Given the description of an element on the screen output the (x, y) to click on. 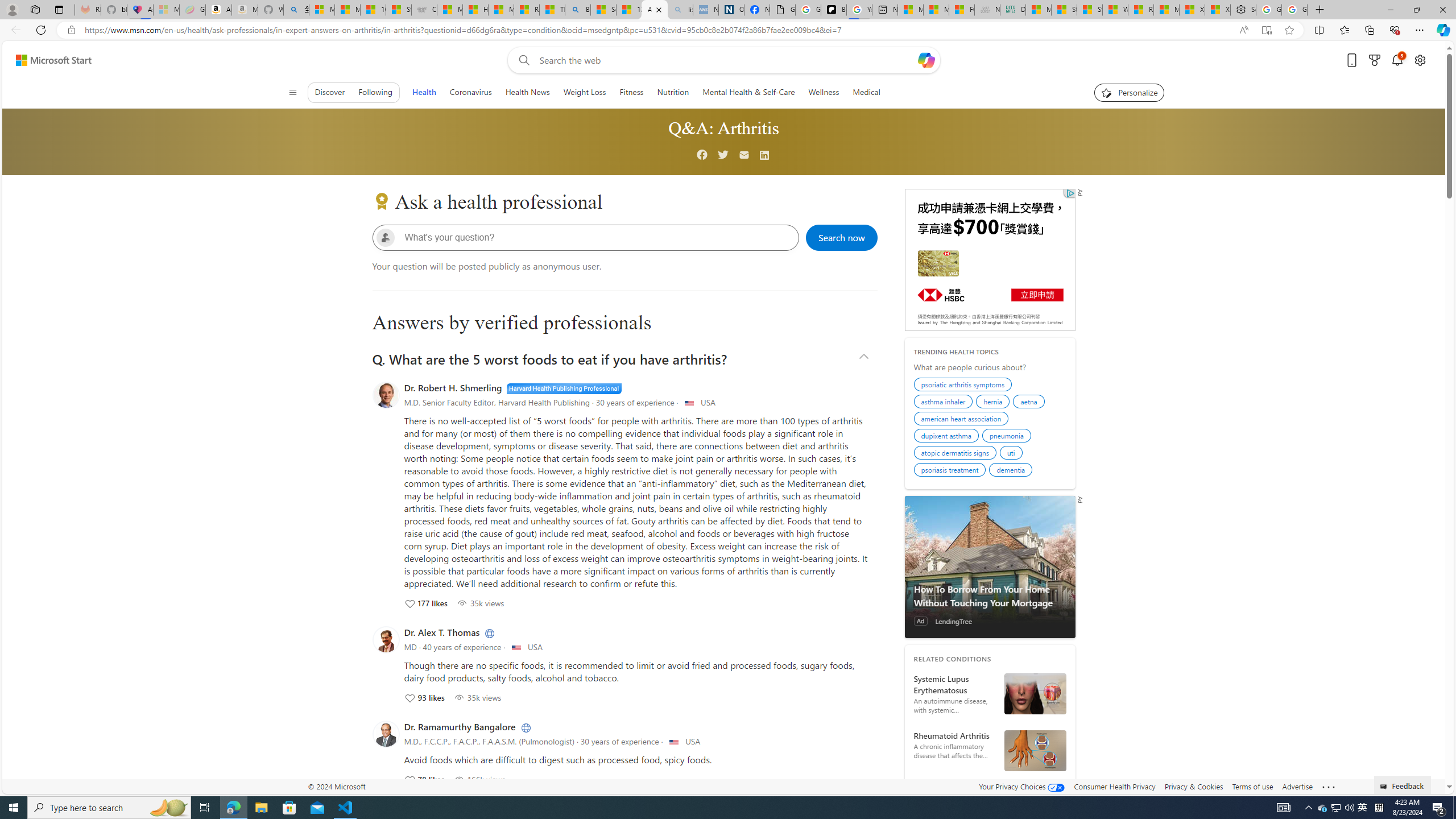
Fitness (631, 92)
Health News (526, 92)
93 Like; Click to Like (423, 697)
See more related conditions (989, 789)
Mental Health & Self-Care (748, 92)
AutomationID: canvas (989, 259)
Facebook (702, 155)
Fitness (631, 92)
pneumonia (1008, 437)
Diagrammatic Representation of - Rheumatoid Arthritis (1034, 750)
Wellness (823, 92)
